Given the description of an element on the screen output the (x, y) to click on. 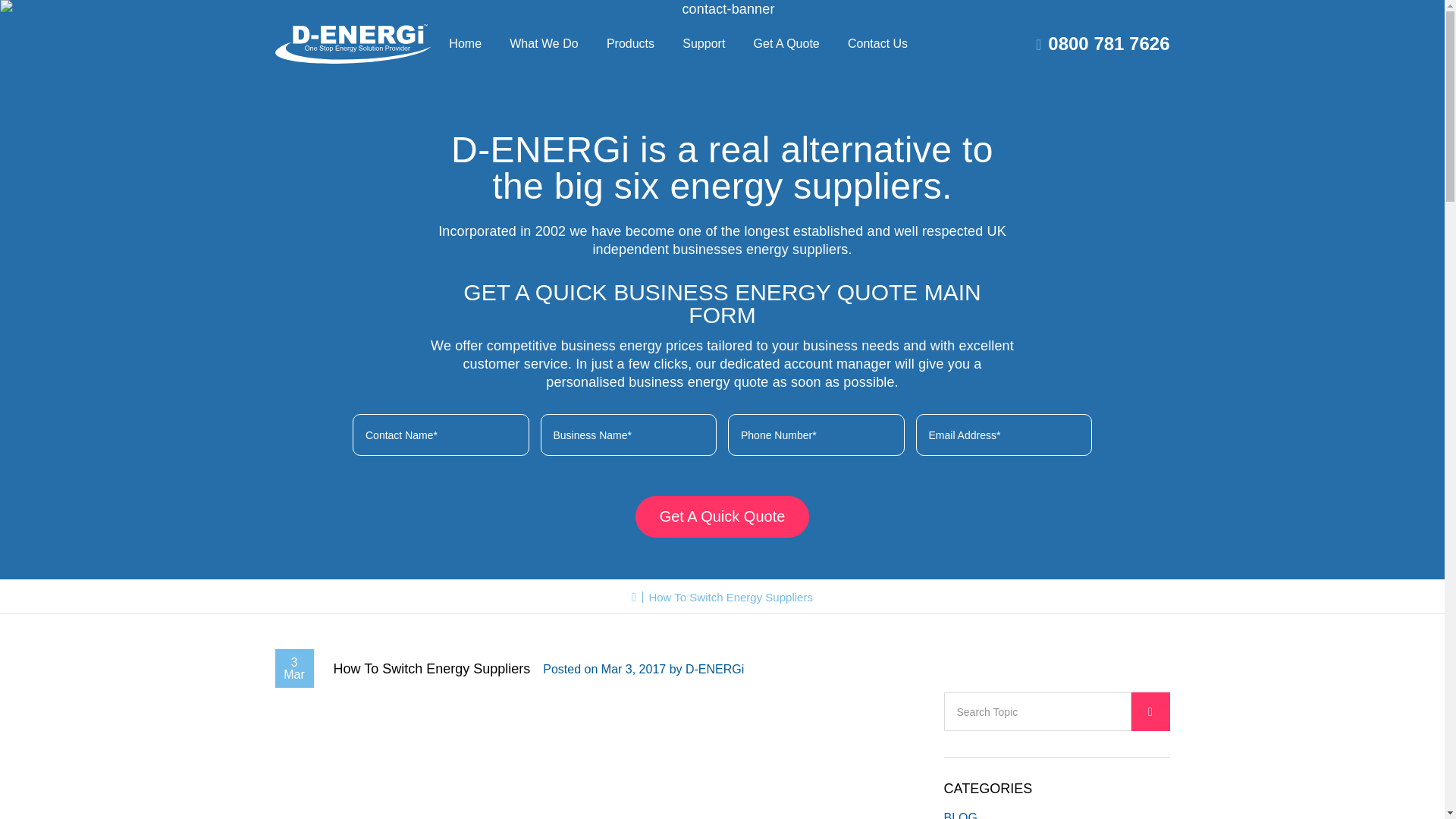
Get A Quick Quote (721, 516)
Contact Us (877, 44)
Products (630, 44)
Home (464, 44)
0800 781 7626 (1102, 43)
Submit (1150, 711)
What We Do (543, 44)
Get A Quote (786, 44)
Support (703, 44)
Get A Quick Quote (721, 516)
